Given the description of an element on the screen output the (x, y) to click on. 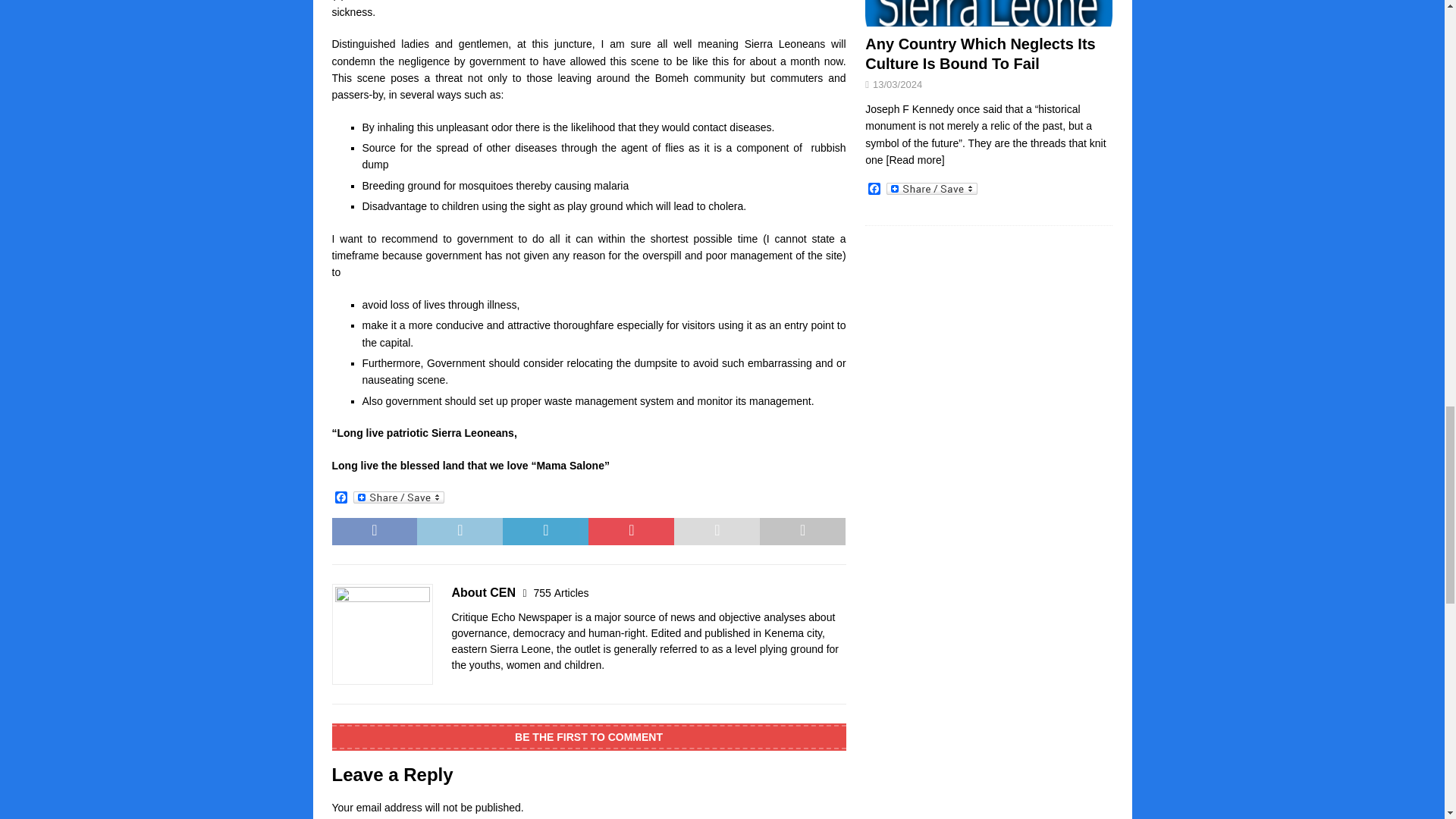
Facebook (340, 498)
